Given the description of an element on the screen output the (x, y) to click on. 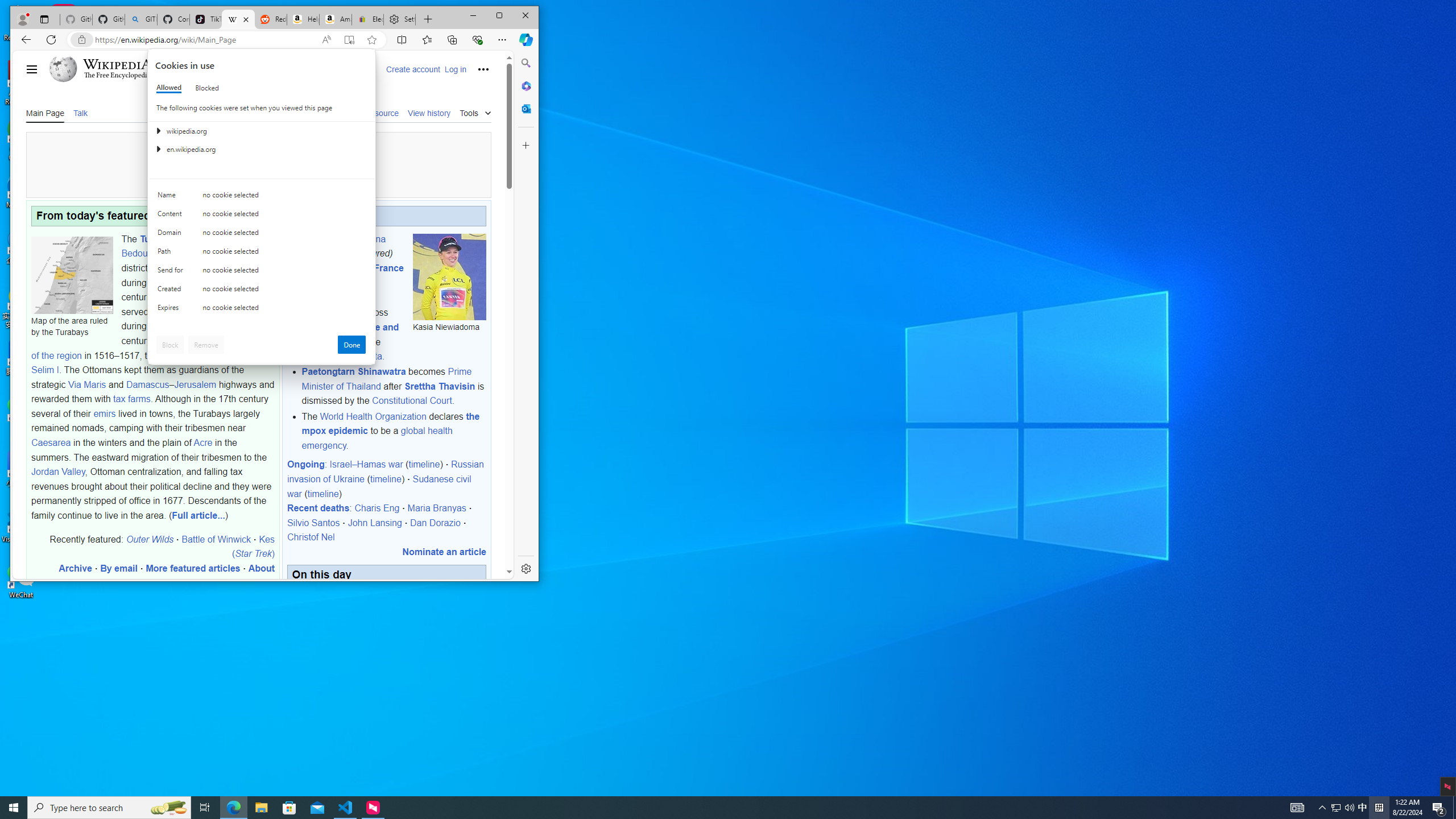
Action Center, 2 new notifications (1439, 807)
Send for (172, 272)
File Explorer (261, 807)
Remove (205, 344)
Done (351, 344)
Created (172, 291)
Tray Input Indicator - Chinese (Simplified, China) (1378, 807)
Show desktop (1454, 807)
Block (169, 344)
Running applications (707, 807)
AutomationID: 4105 (1297, 807)
Microsoft Edge - 1 running window (1335, 807)
